Given the description of an element on the screen output the (x, y) to click on. 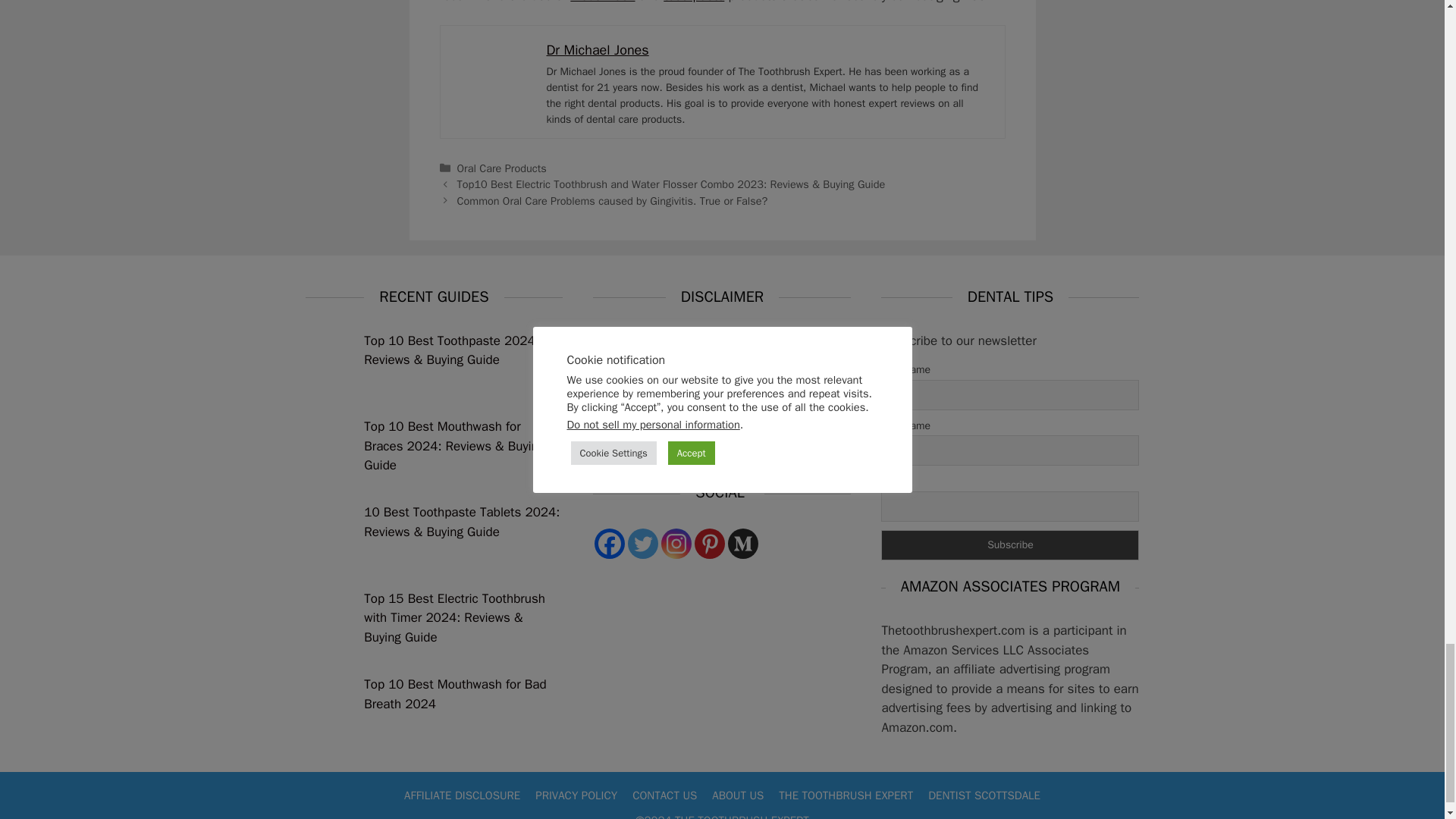
Subscribe (1009, 544)
